Given the description of an element on the screen output the (x, y) to click on. 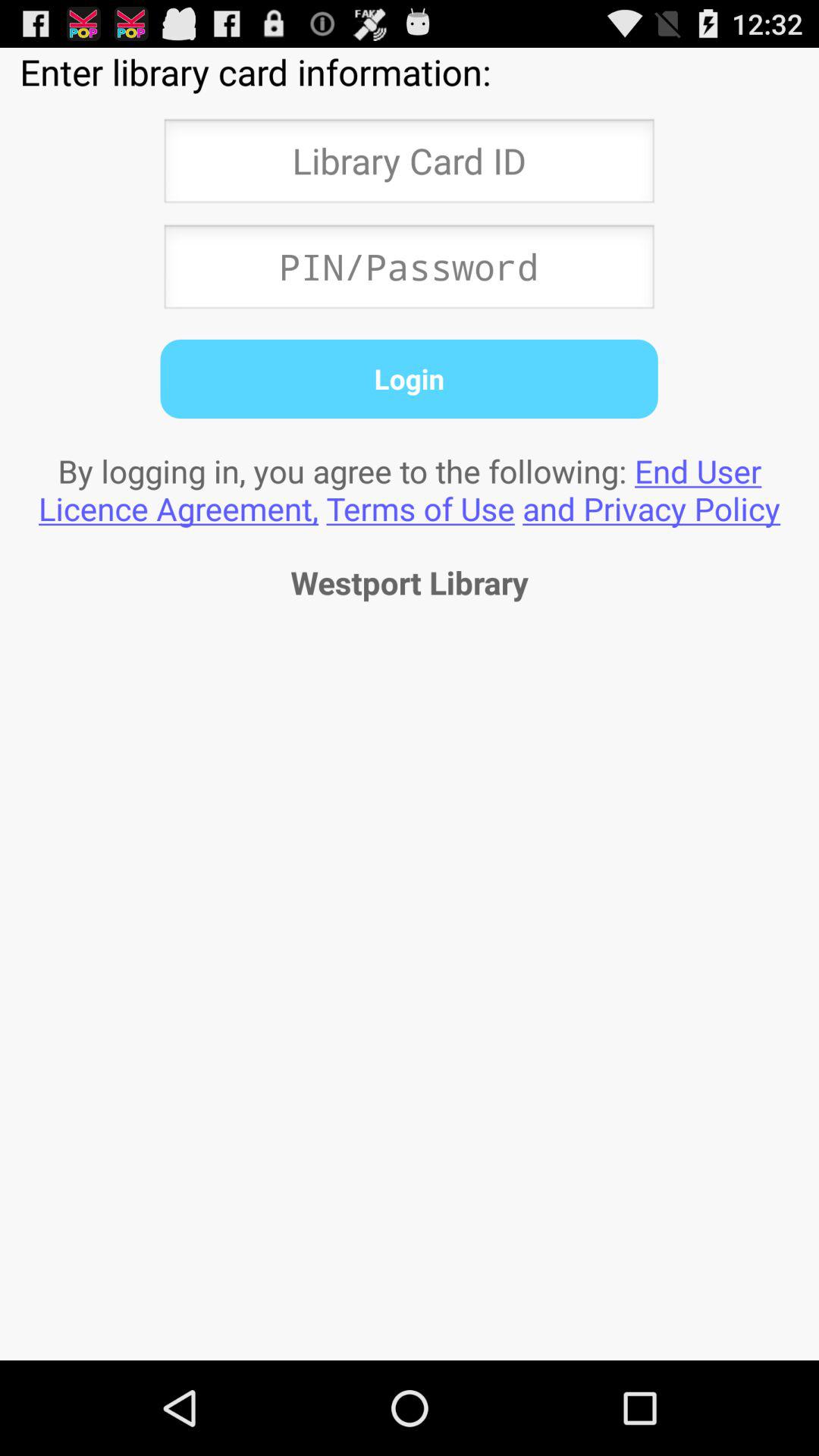
form to enter library card id (409, 165)
